Given the description of an element on the screen output the (x, y) to click on. 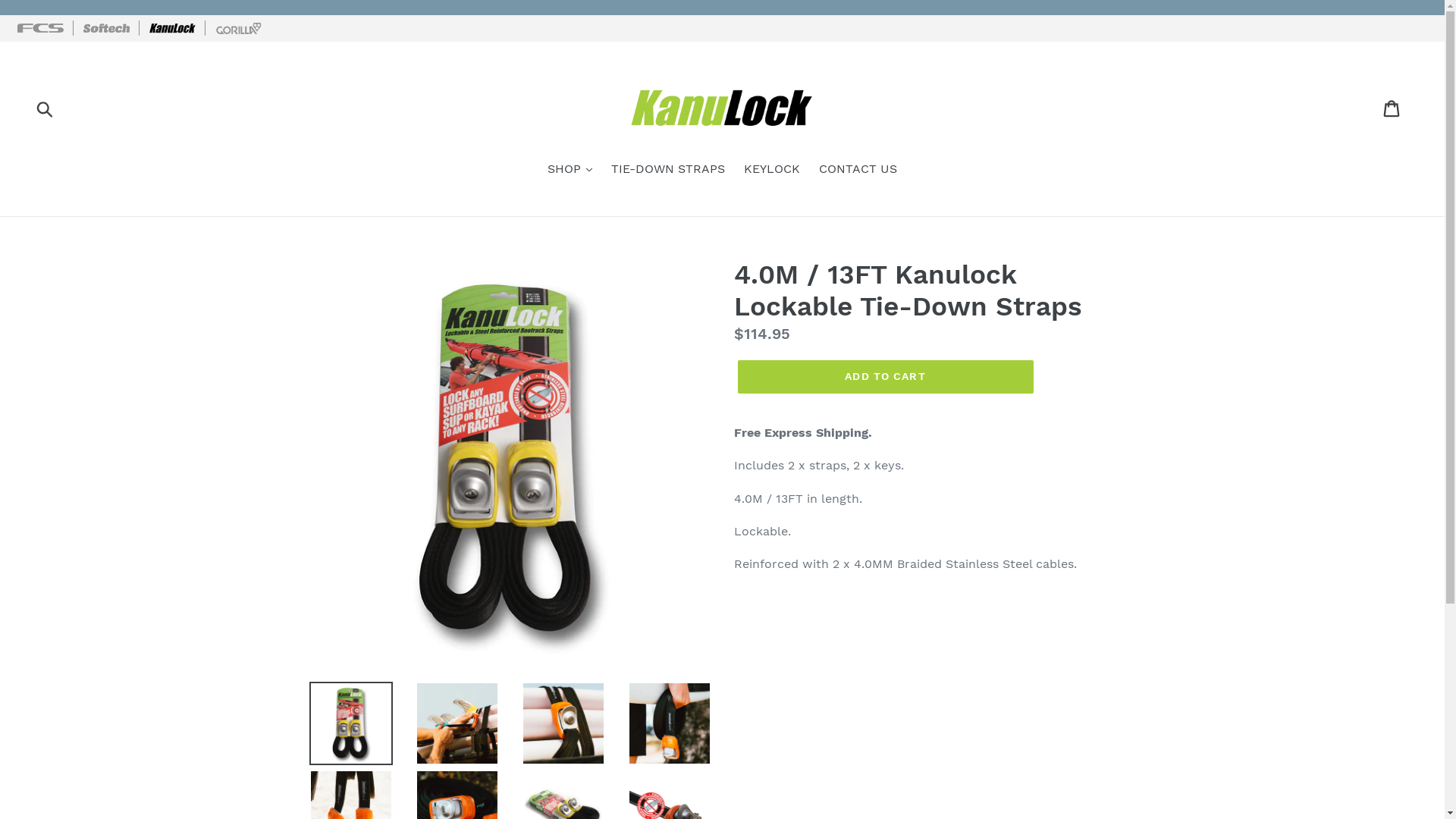
Cart Element type: text (1392, 108)
Submit Element type: text (45, 108)
TIE-DOWN STRAPS Element type: text (667, 170)
CONTACT US Element type: text (857, 170)
ADD TO CART Element type: text (884, 376)
KEYLOCK Element type: text (771, 170)
